Given the description of an element on the screen output the (x, y) to click on. 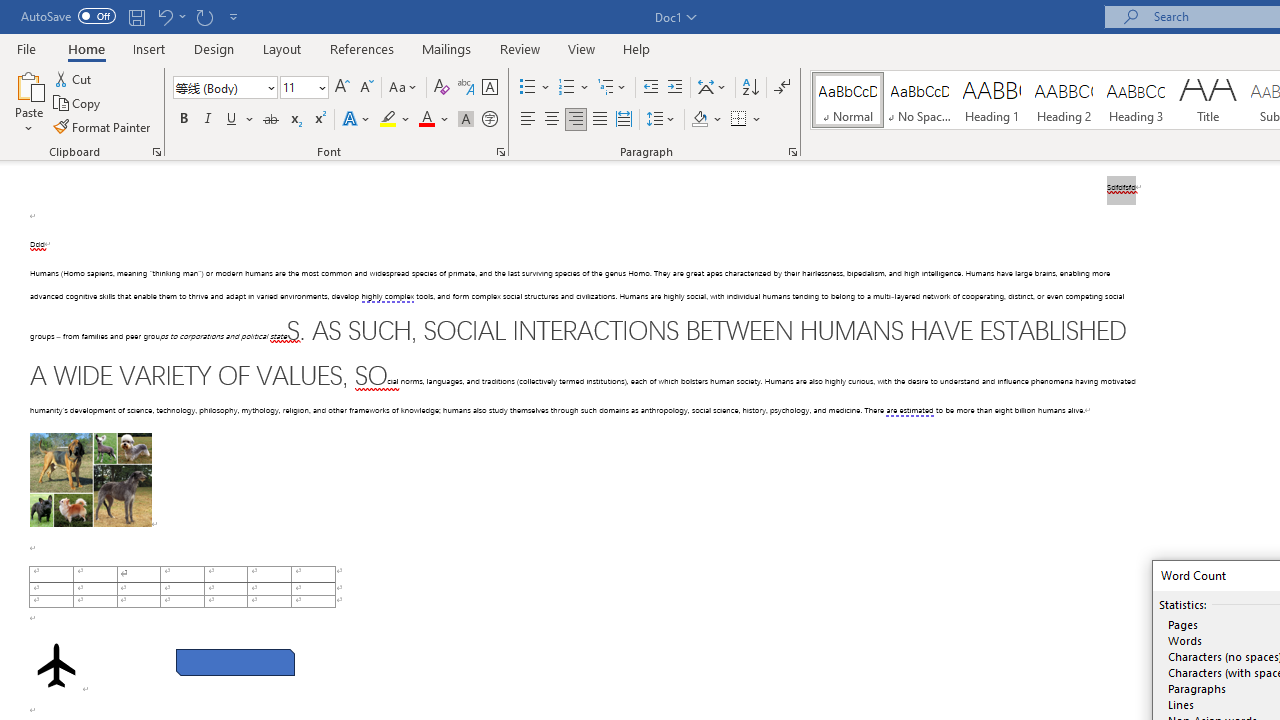
Rectangle: Diagonal Corners Snipped 2 (235, 662)
Heading 3 (1135, 100)
